Given the description of an element on the screen output the (x, y) to click on. 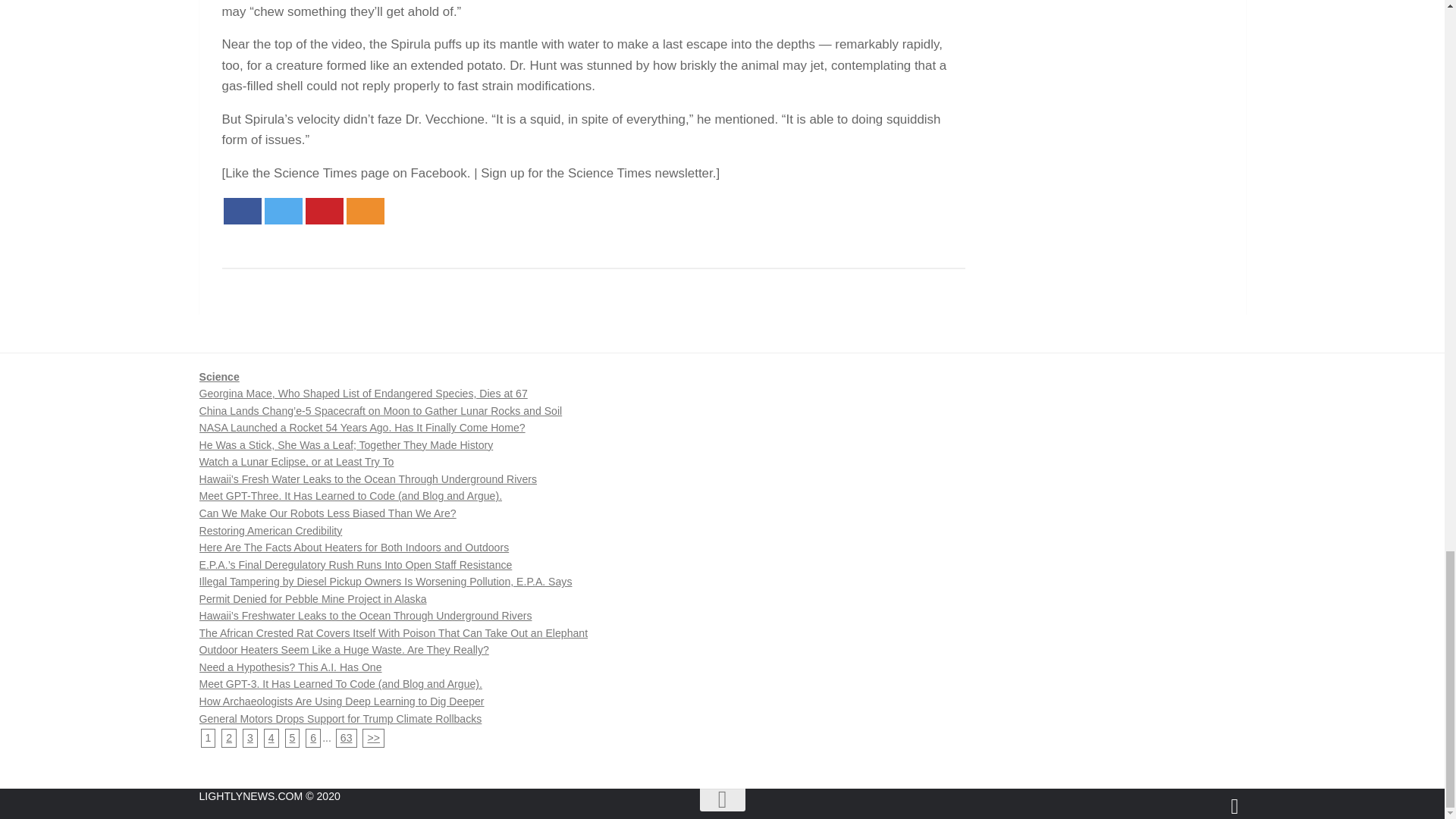
More (365, 211)
Pinterest (323, 211)
Twitter (282, 211)
Facebook (241, 211)
